Given the description of an element on the screen output the (x, y) to click on. 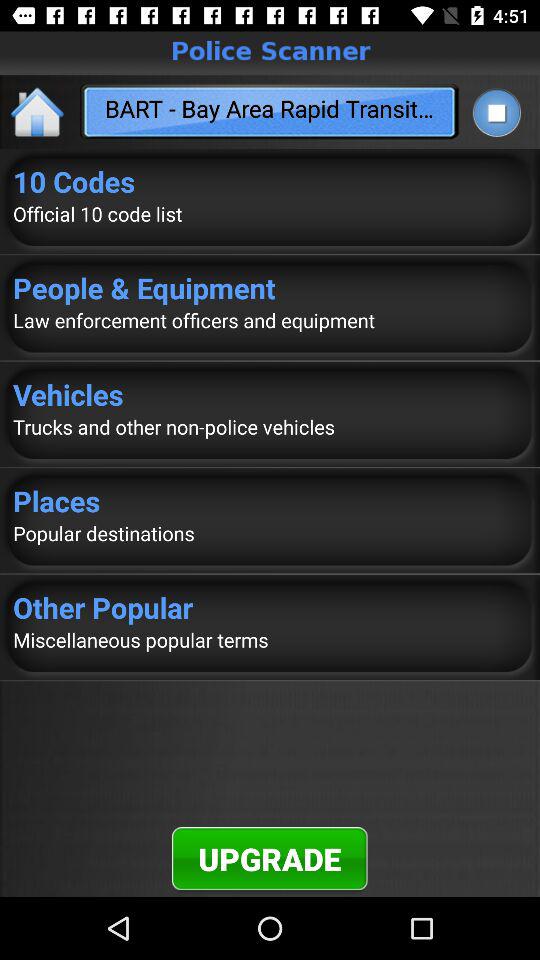
select the icon above the vehicles app (269, 320)
